Given the description of an element on the screen output the (x, y) to click on. 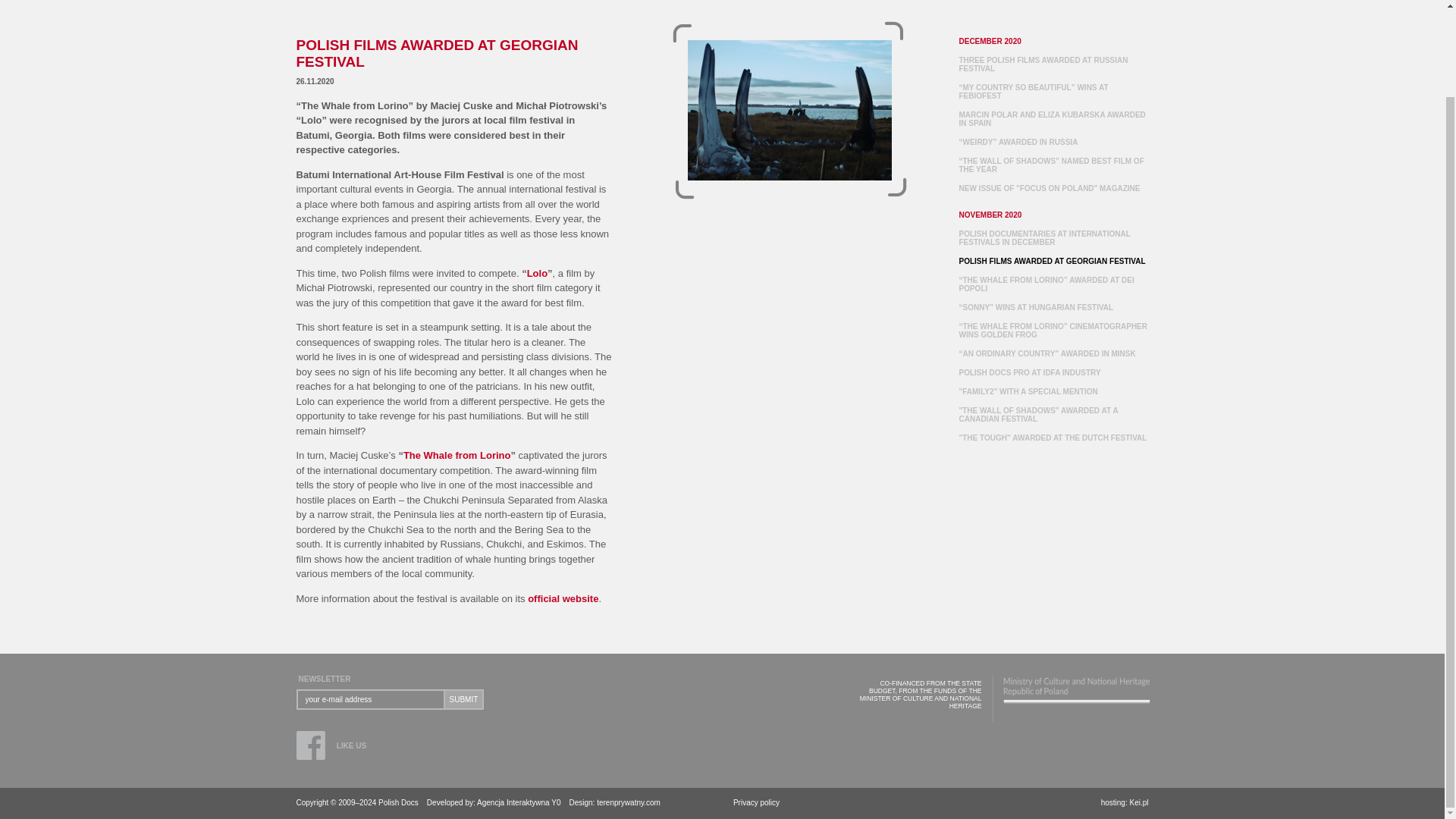
The Whale from Lorino (457, 455)
Lolo (537, 273)
official website (562, 598)
MARCIN POLAR AND ELIZA KUBARSKA AWARDED IN SPAIN (1051, 118)
POLISH FILMS AWARDED AT GEORGIAN FESTIVAL (789, 110)
THREE POLISH FILMS AWARDED AT RUSSIAN FESTIVAL (1042, 64)
